Given the description of an element on the screen output the (x, y) to click on. 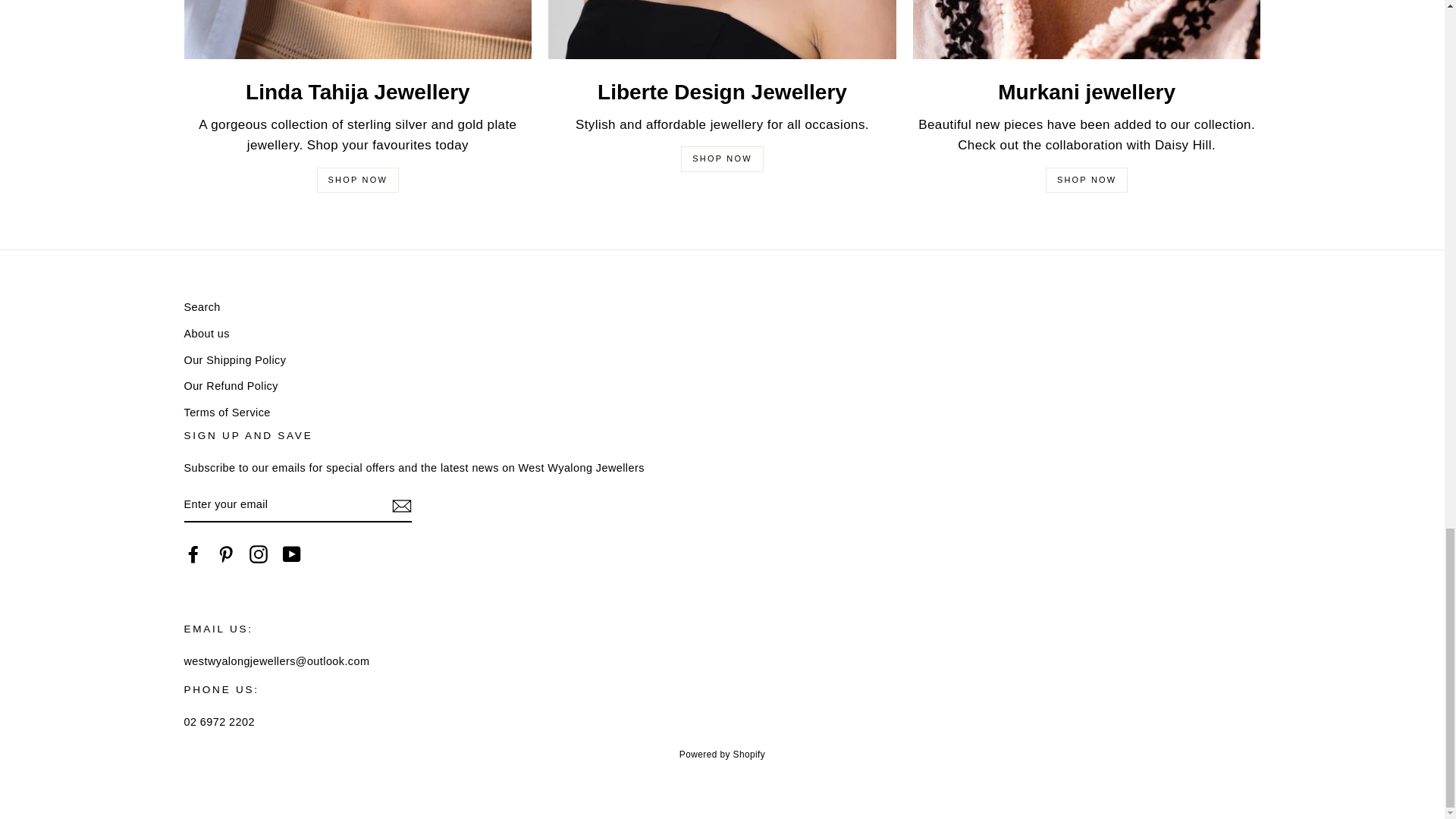
West Wyalong Jewellers on Instagram (257, 554)
West Wyalong Jewellers on Pinterest (225, 554)
West Wyalong Jewellers on YouTube (291, 554)
West Wyalong Jewellers on Facebook (192, 554)
